Given the description of an element on the screen output the (x, y) to click on. 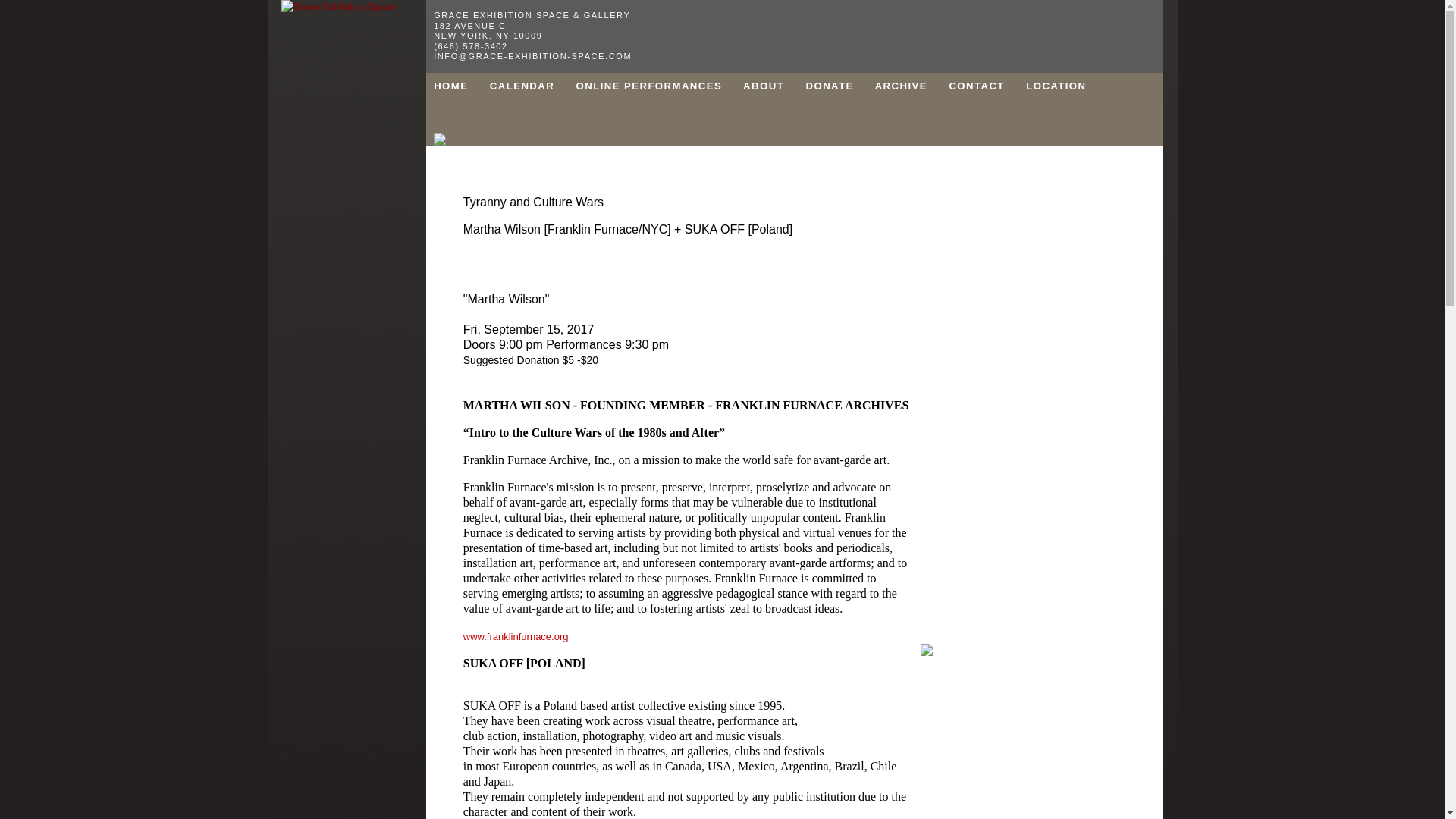
ABOUT (772, 85)
ARCHIVE (909, 85)
DONATE (839, 85)
HOME (459, 85)
CALENDAR (530, 85)
www.franklinfurnace.org (516, 636)
ONLINE PERFORMANCES (657, 85)
LOCATION (1056, 85)
CONTACT (985, 85)
